Given the description of an element on the screen output the (x, y) to click on. 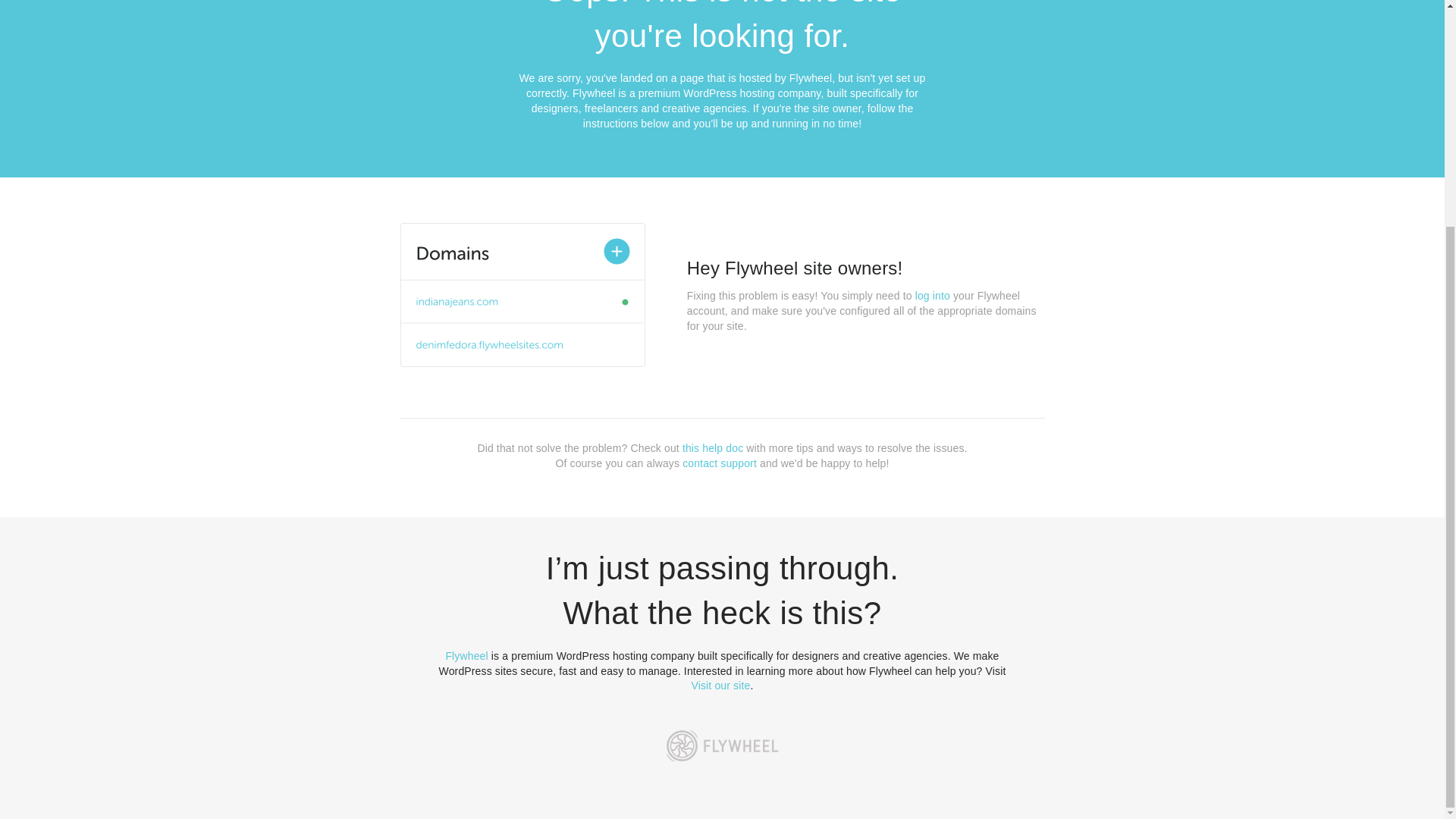
Visit our site (721, 685)
Flywheel (466, 655)
this help doc (712, 448)
log into (932, 295)
contact support (719, 463)
